Given the description of an element on the screen output the (x, y) to click on. 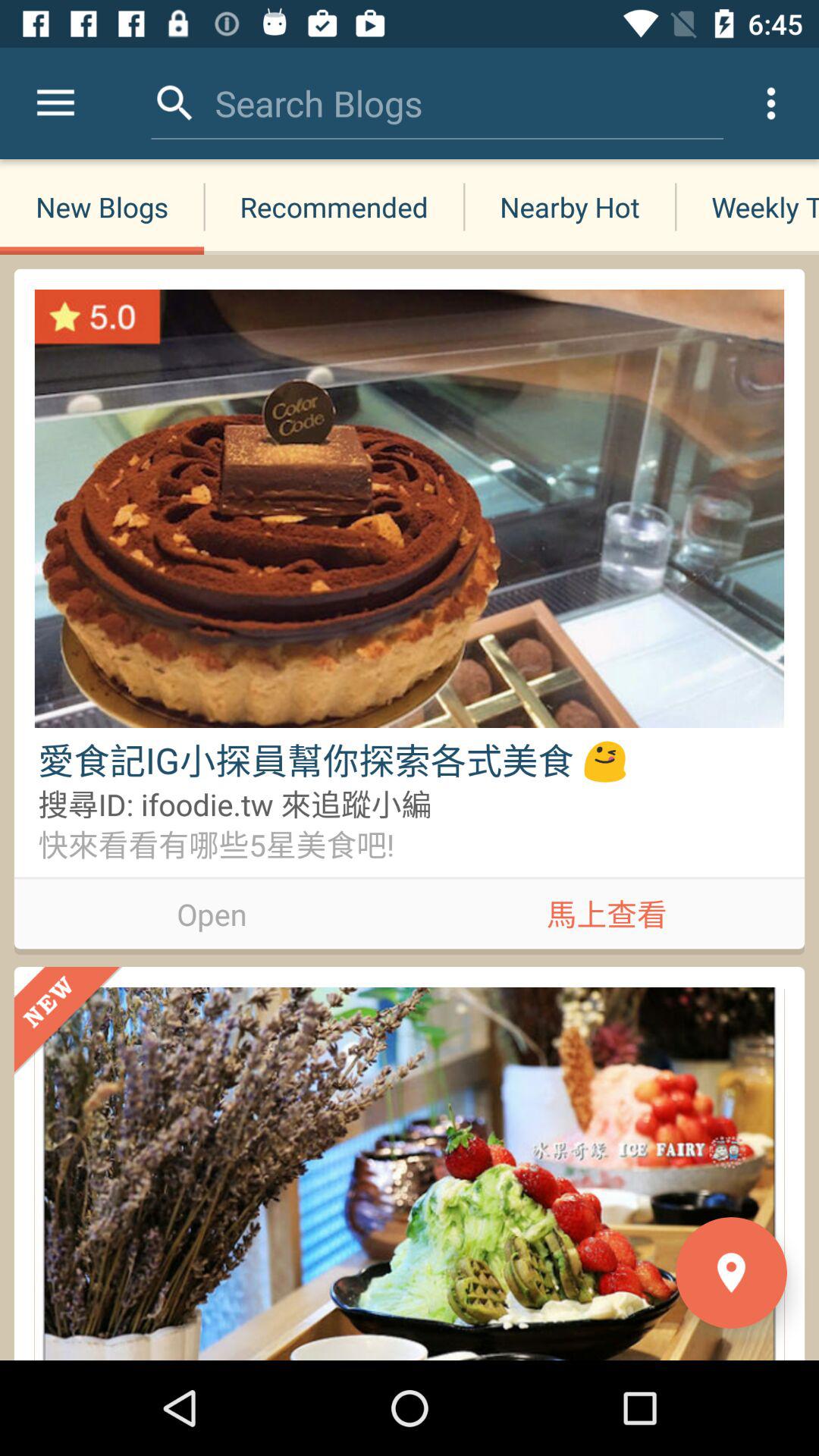
jump to the recommended item (334, 206)
